Given the description of an element on the screen output the (x, y) to click on. 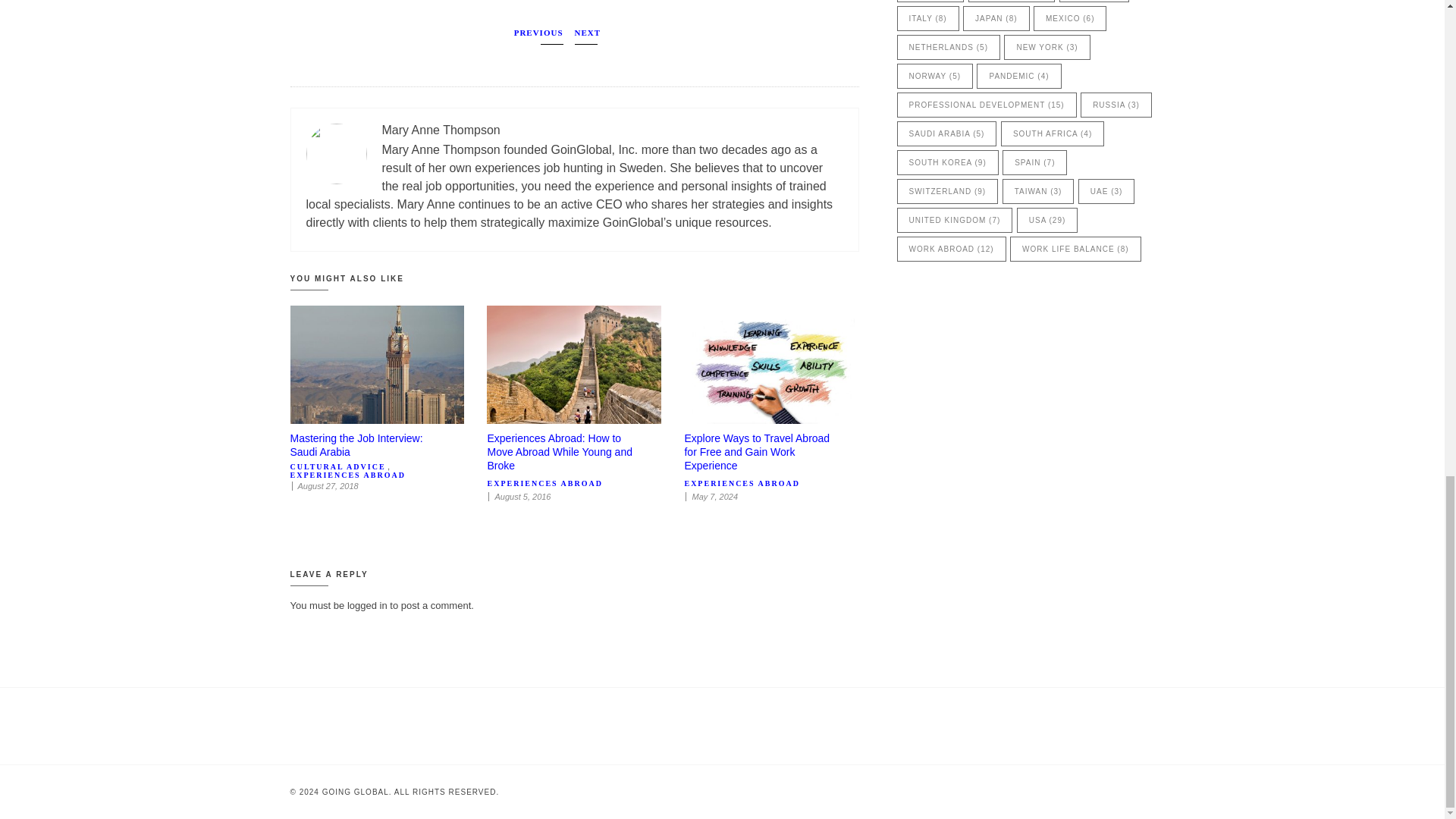
CULTURAL ADVICE (337, 466)
logged in (367, 604)
Experiences Abroad: How to Move Abroad While Young and Broke (558, 451)
EXPERIENCES ABROAD (346, 474)
Mastering the Job Interview: Saudi Arabia (355, 444)
PREVIOUS (538, 36)
EXPERIENCES ABROAD (741, 483)
EXPERIENCES ABROAD (544, 483)
NEXT (588, 36)
